Given the description of an element on the screen output the (x, y) to click on. 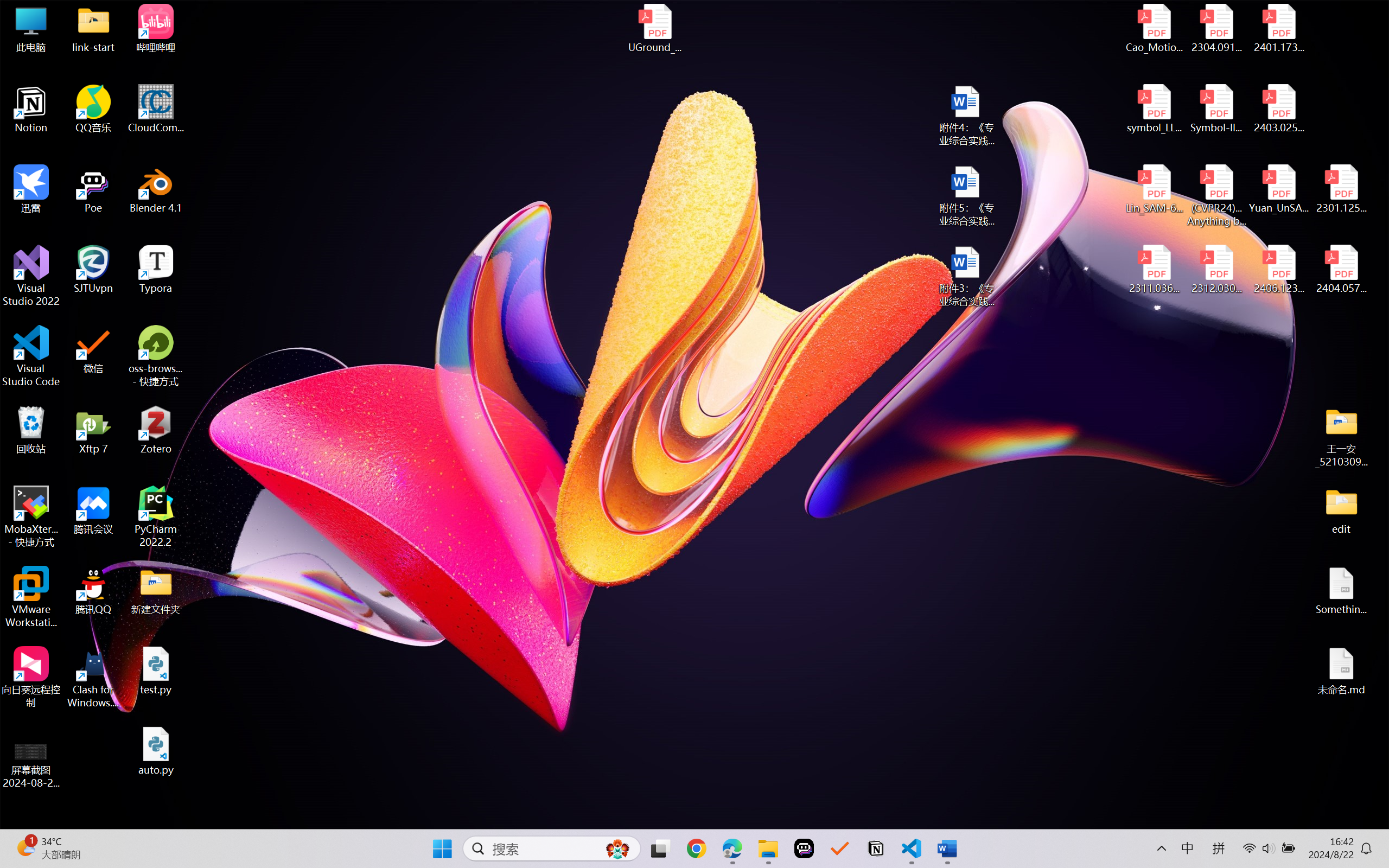
2304.09121v3.pdf (1216, 28)
Visual Studio 2022 (31, 276)
(CVPR24)Matching Anything by Segmenting Anything.pdf (1216, 195)
auto.py (156, 751)
